Given the description of an element on the screen output the (x, y) to click on. 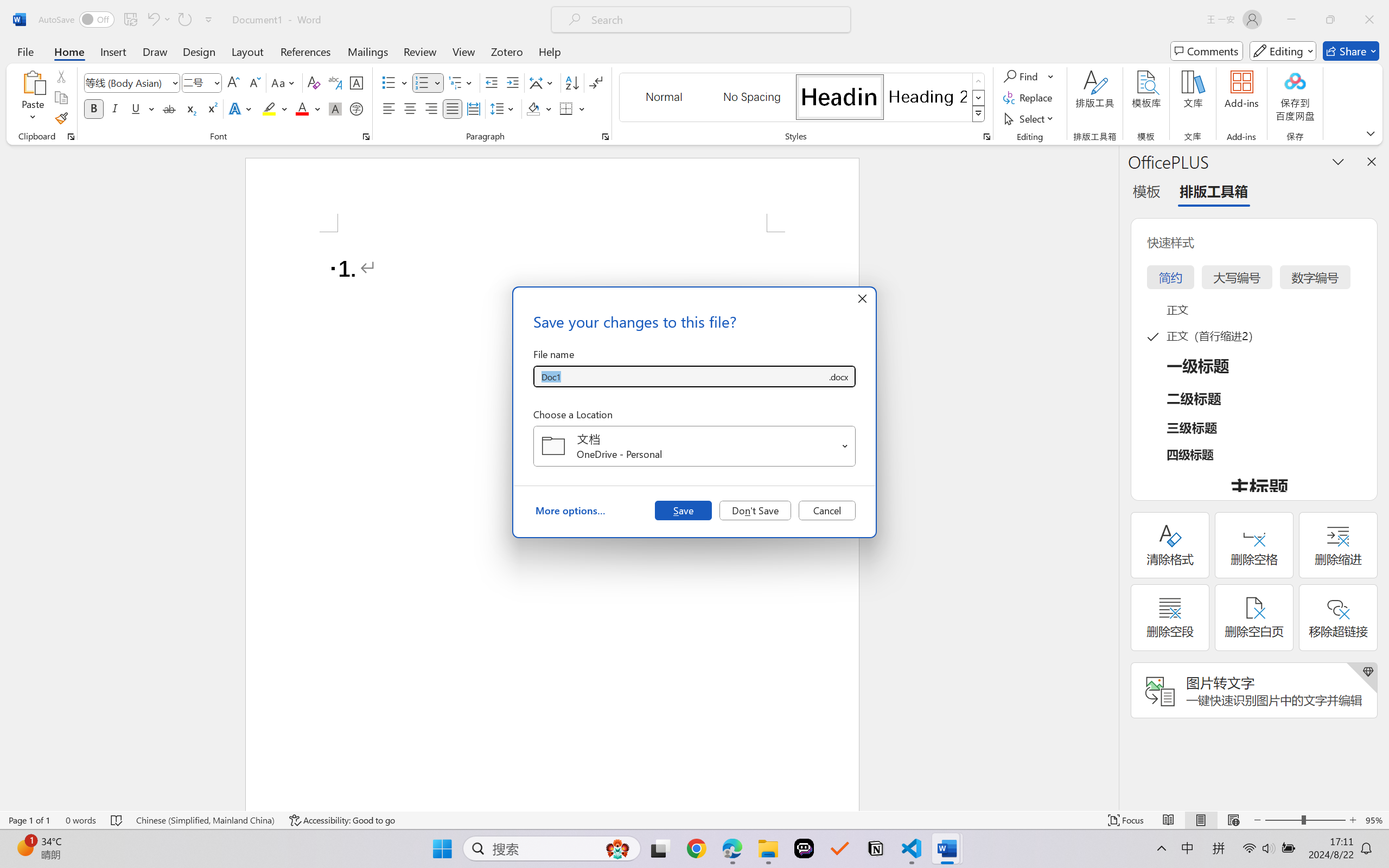
Language Chinese (Simplified, Mainland China) (205, 819)
